Given the description of an element on the screen output the (x, y) to click on. 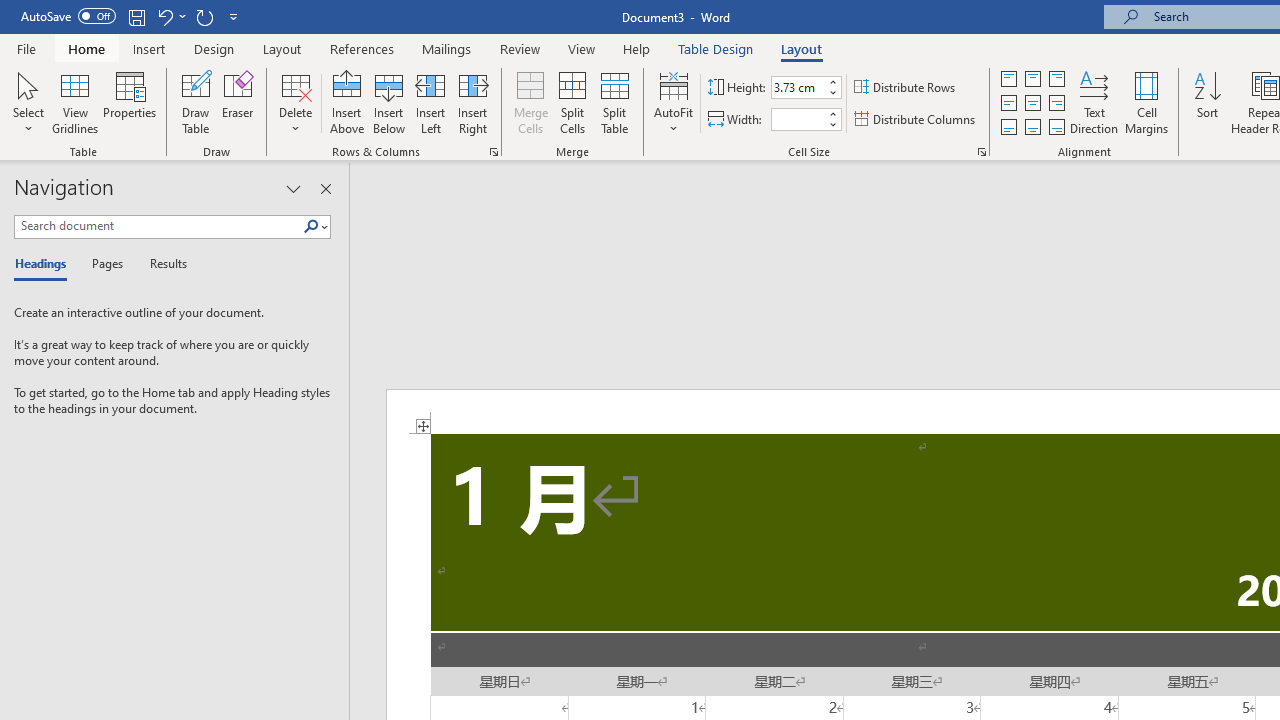
Insert Cells... (493, 151)
Insert Right (472, 102)
Insert Below (388, 102)
Merge Cells (530, 102)
AutoFit (673, 102)
Text Direction (1094, 102)
